Given the description of an element on the screen output the (x, y) to click on. 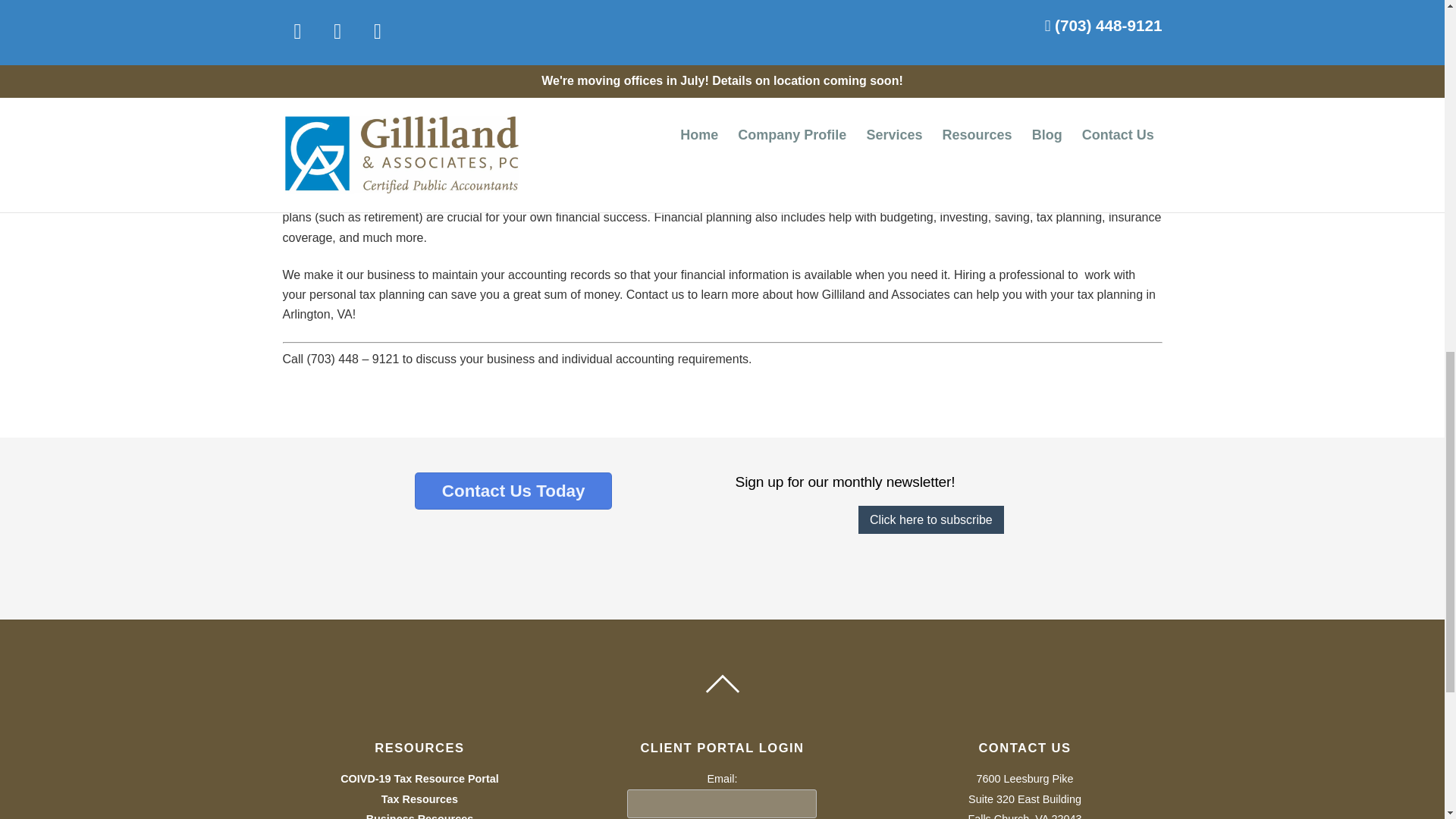
COIVD-19 Tax Resource Portal (418, 778)
Contact Us Today (512, 490)
Tax Resources (419, 799)
Click here to subscribe (931, 519)
Business Resources (420, 816)
